Given the description of an element on the screen output the (x, y) to click on. 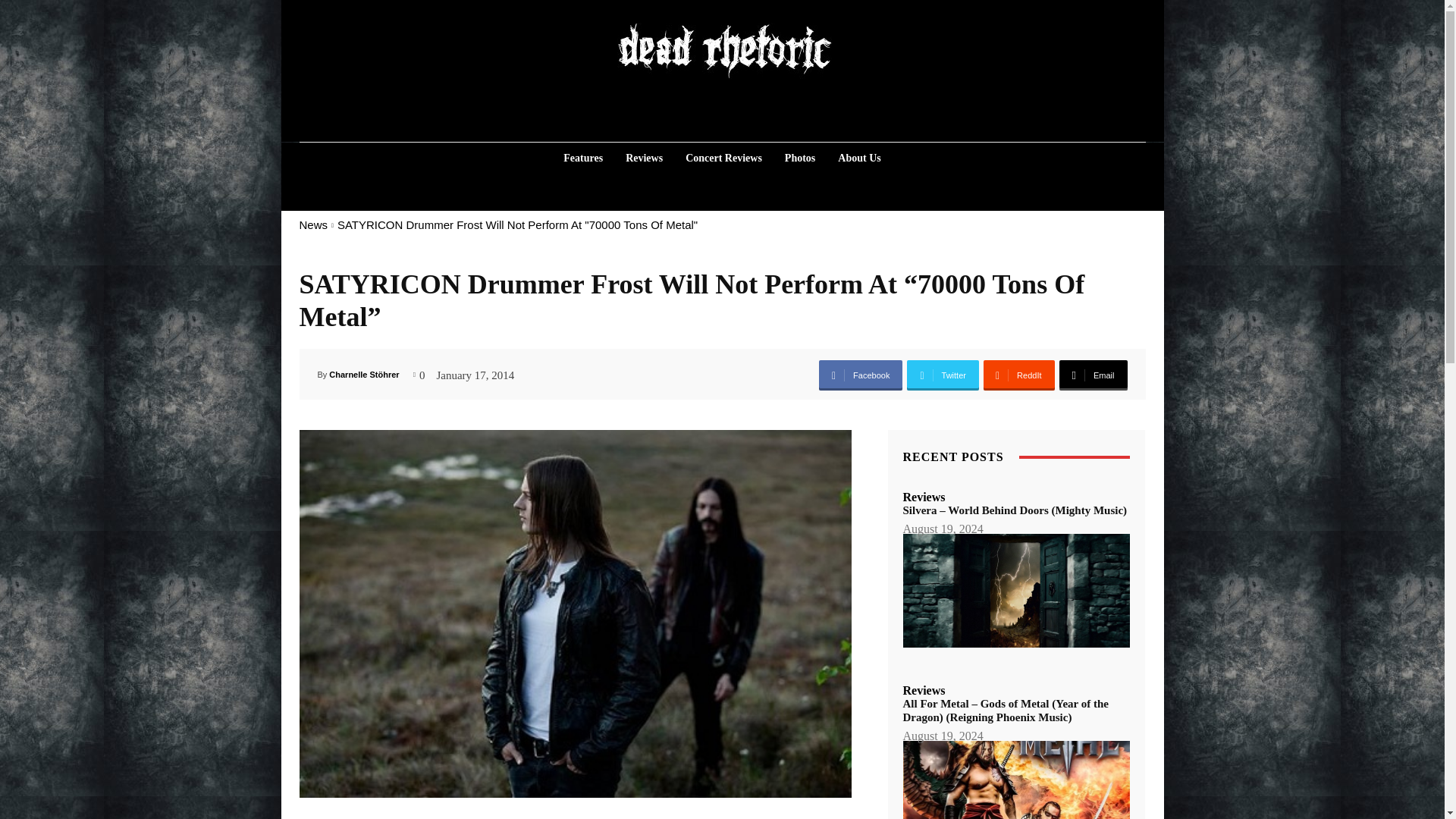
Photos (799, 158)
Twitter (942, 375)
ReddIt (1019, 375)
Twitter (942, 375)
Email (1092, 375)
Concert Reviews (724, 158)
Features (583, 158)
News (312, 224)
View all posts in News (312, 224)
Reviews (643, 158)
